Given the description of an element on the screen output the (x, y) to click on. 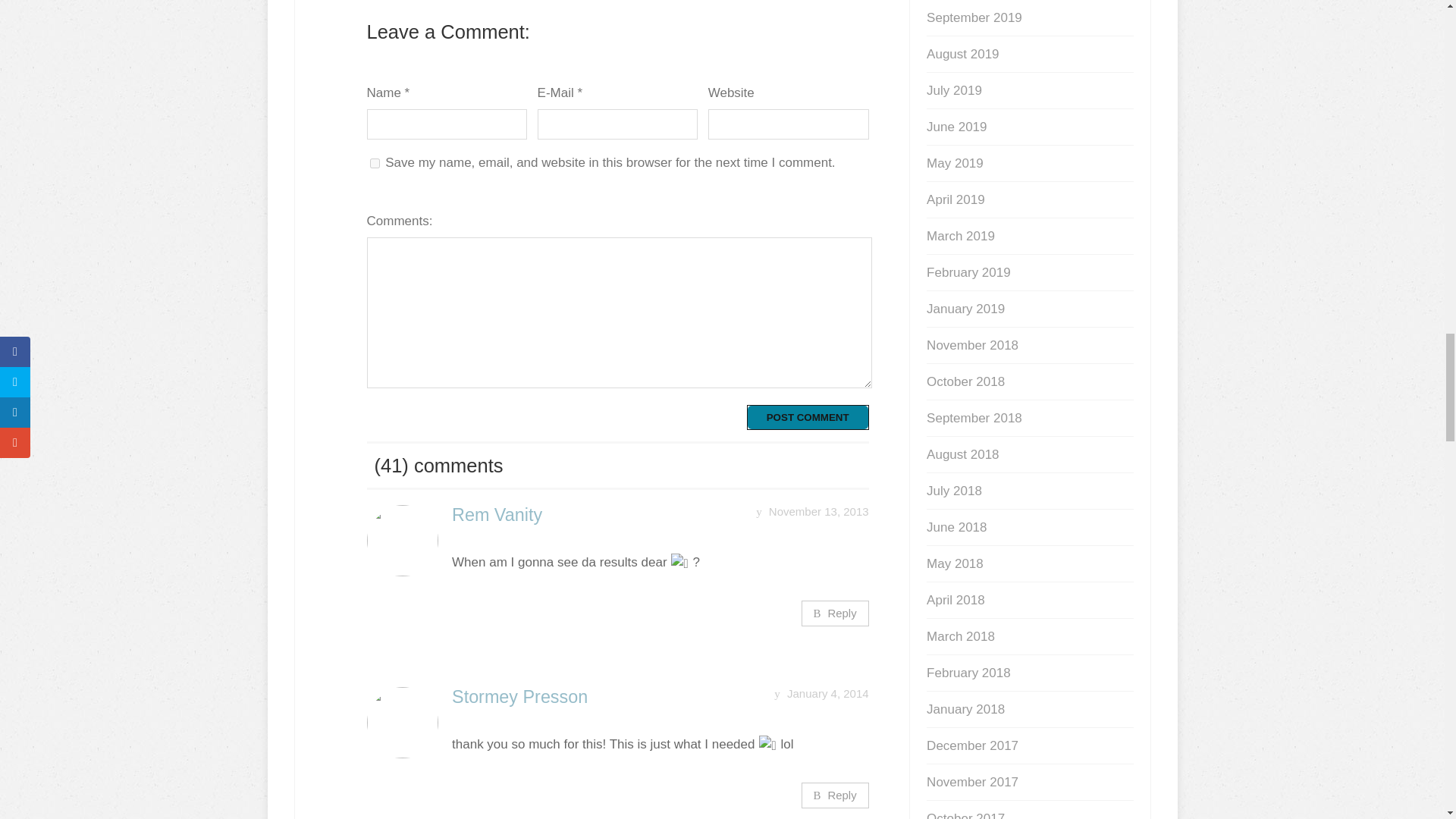
Reply (835, 613)
Post Comment (807, 417)
Reply (835, 795)
yes (374, 163)
Post Comment (807, 417)
